Given the description of an element on the screen output the (x, y) to click on. 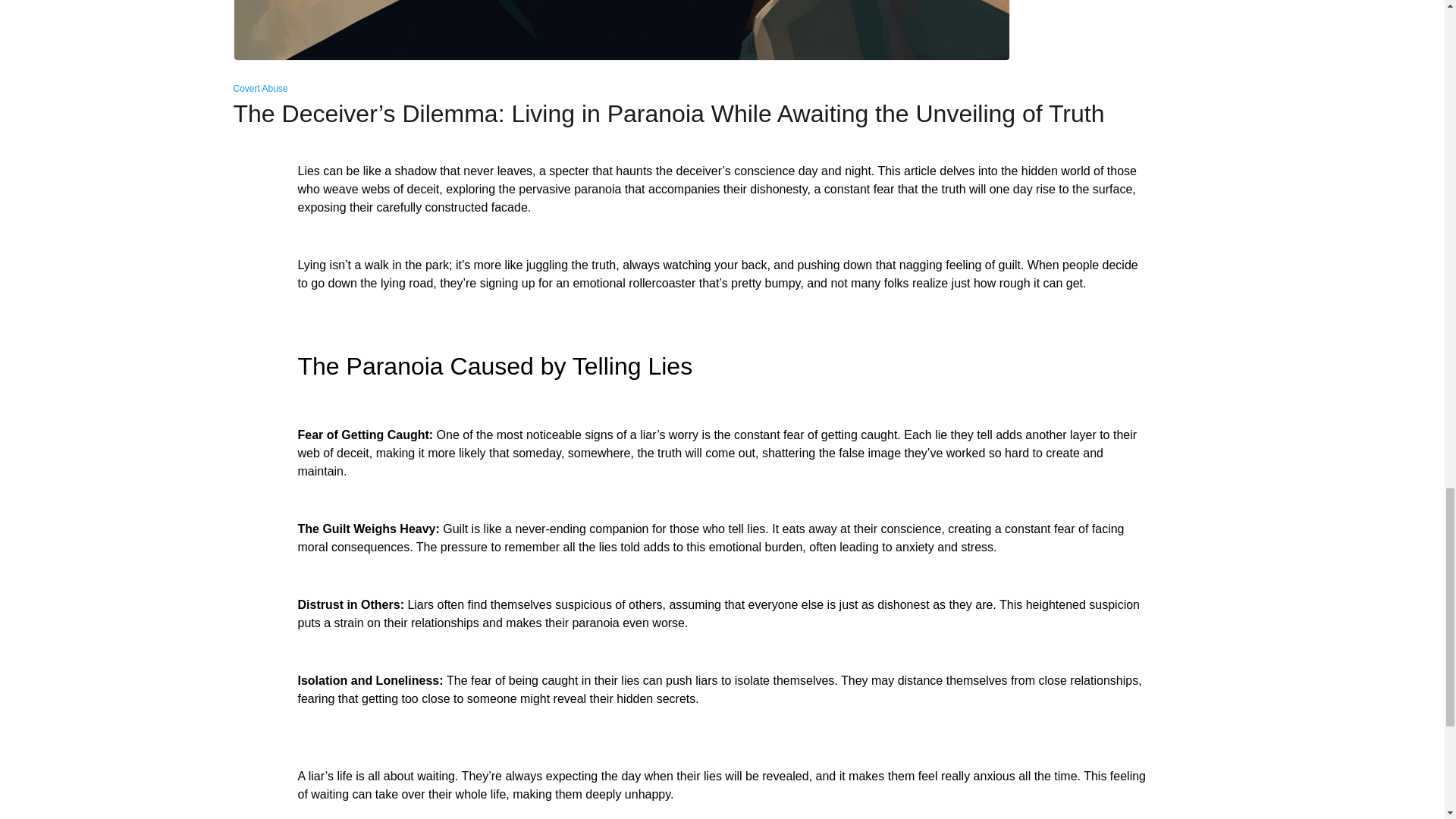
Covert Abuse (260, 88)
